Given the description of an element on the screen output the (x, y) to click on. 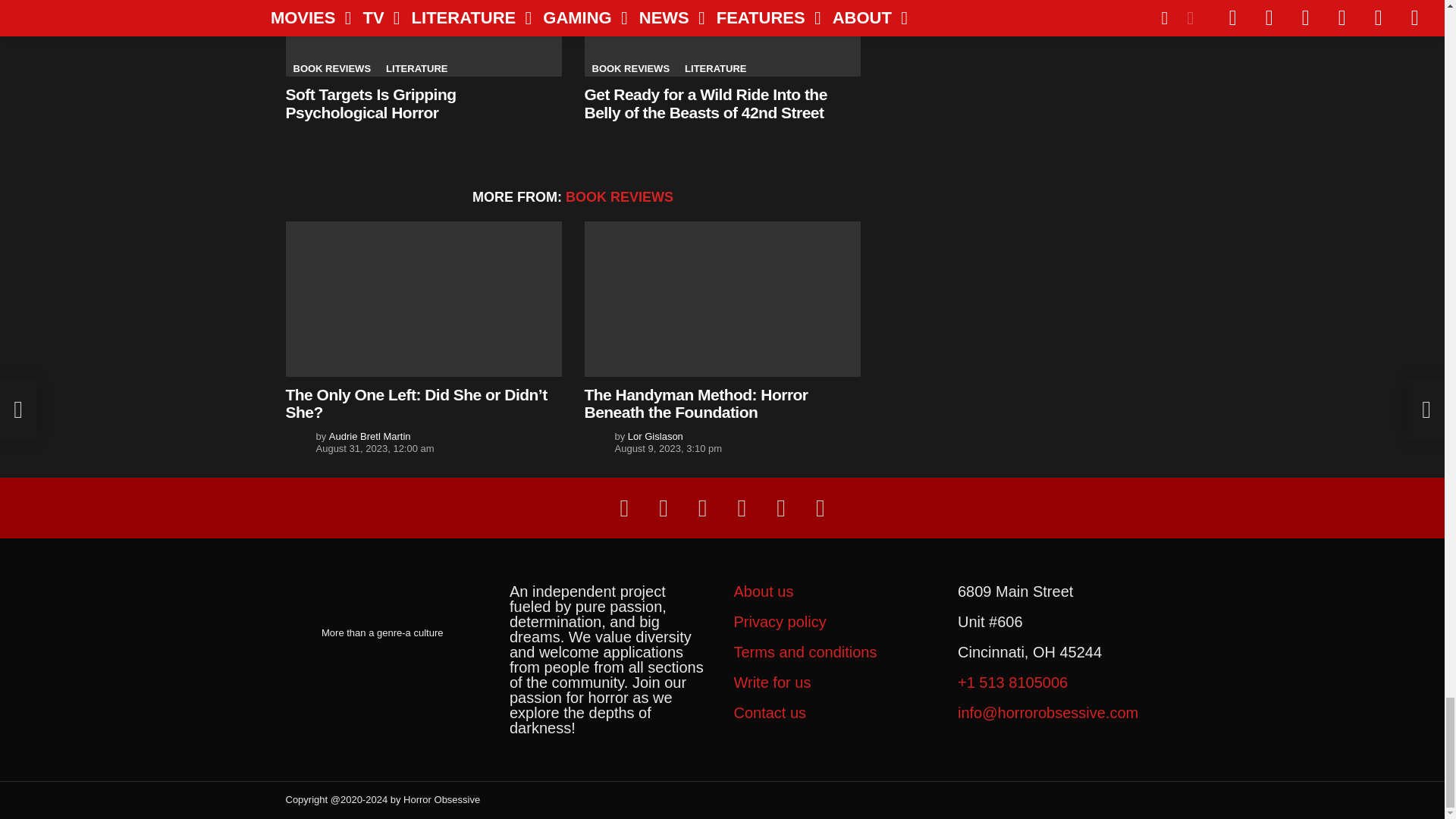
Posts by Audrie Bretl Martin (369, 436)
Soft Targets Is Gripping Psychological Horror (422, 38)
The Handyman Method: Horror Beneath the Foundation (721, 298)
Posts by Lor Gislason (654, 436)
